Given the description of an element on the screen output the (x, y) to click on. 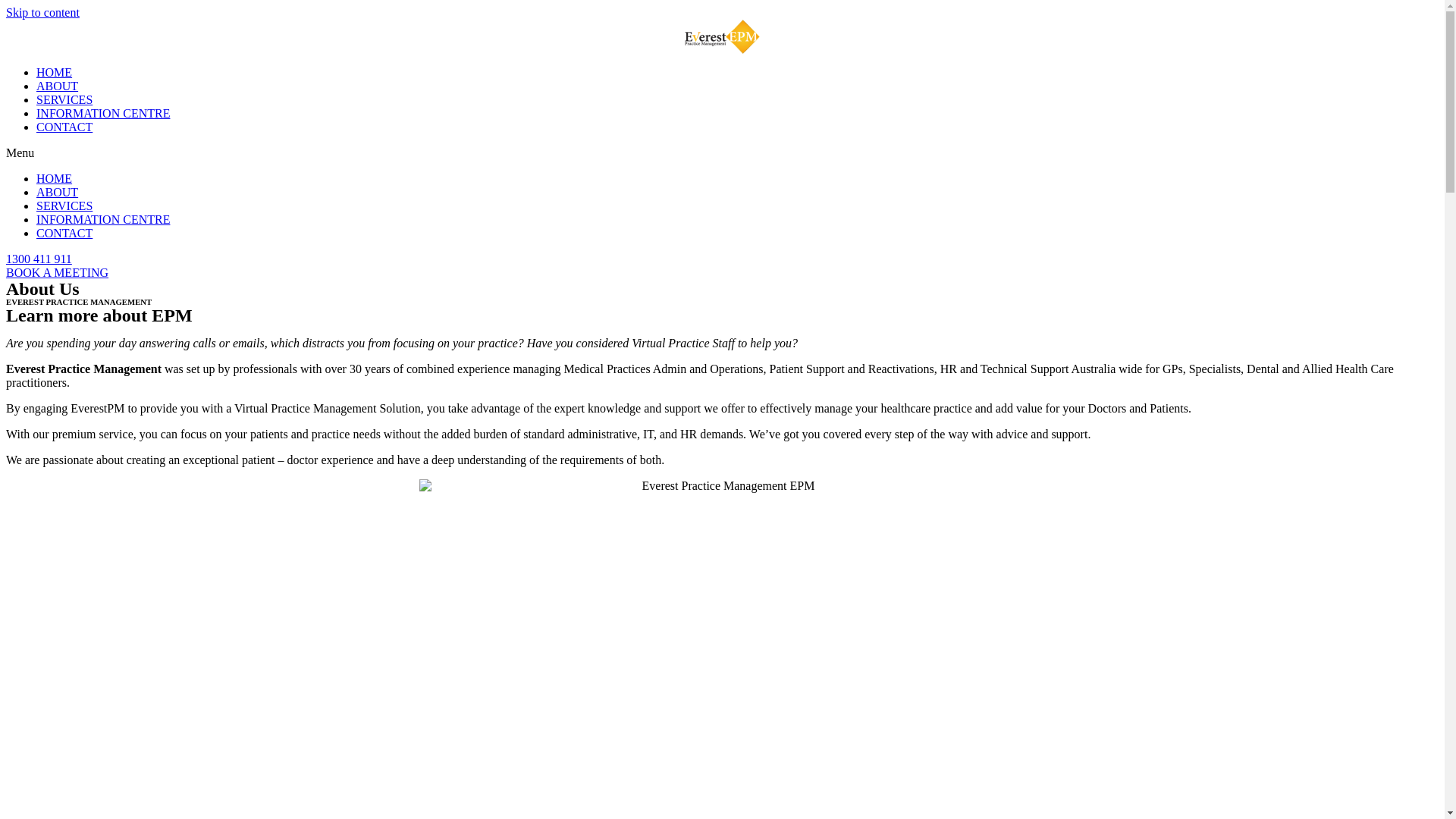
CONTACT Element type: text (64, 232)
Skip to content Element type: text (42, 12)
HOME Element type: text (54, 71)
HOME Element type: text (54, 178)
BOOK A MEETING Element type: text (57, 272)
INFORMATION CENTRE Element type: text (102, 219)
SERVICES Element type: text (64, 99)
Virtual Medical Receptionist Everest PM Logo Element type: hover (721, 36)
ABOUT Element type: text (57, 191)
SERVICES Element type: text (64, 205)
INFORMATION CENTRE Element type: text (102, 112)
CONTACT Element type: text (64, 126)
1300 411 911 Element type: text (39, 258)
ABOUT Element type: text (57, 85)
